Given the description of an element on the screen output the (x, y) to click on. 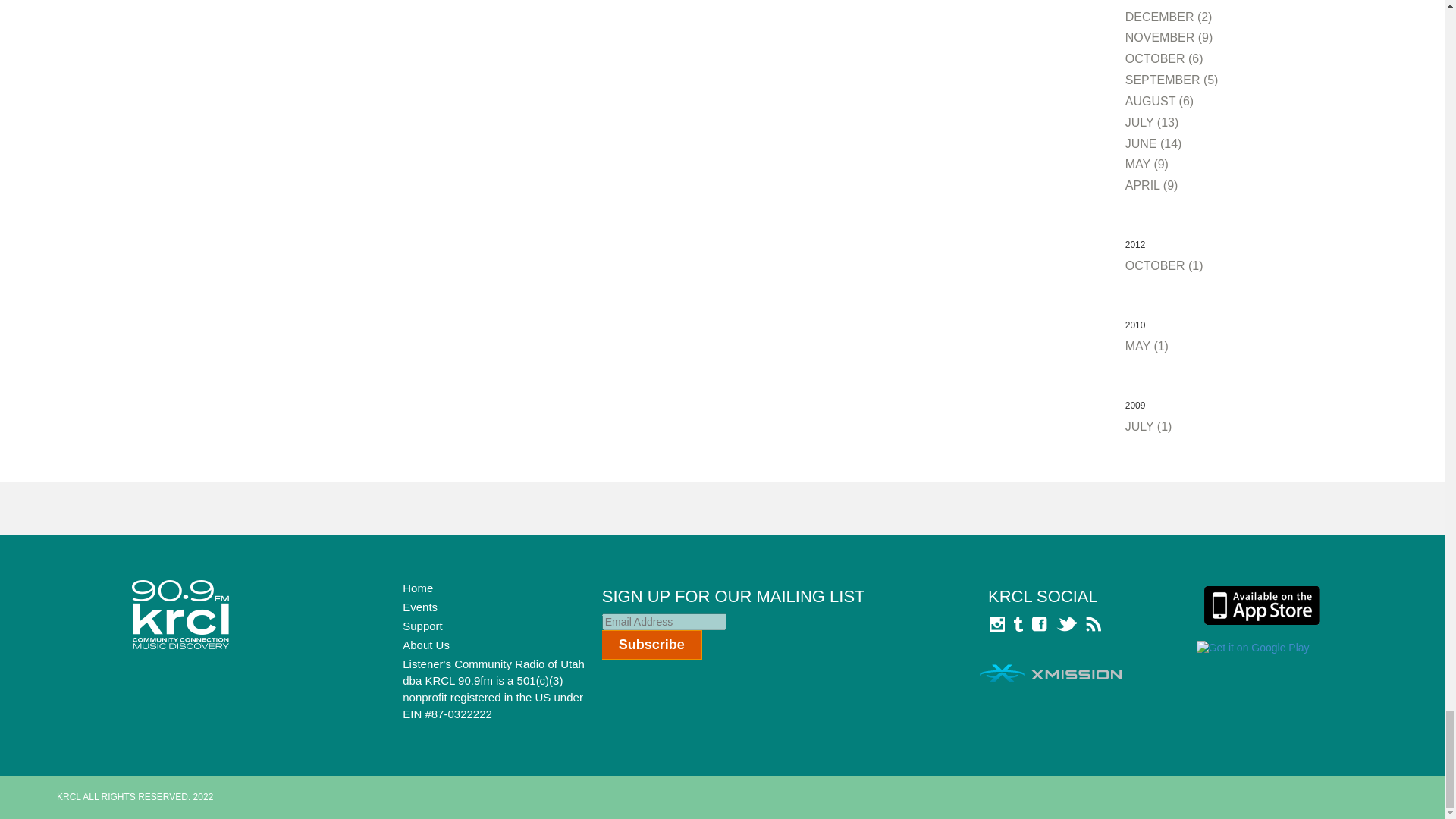
Subscribe (651, 644)
